Given the description of an element on the screen output the (x, y) to click on. 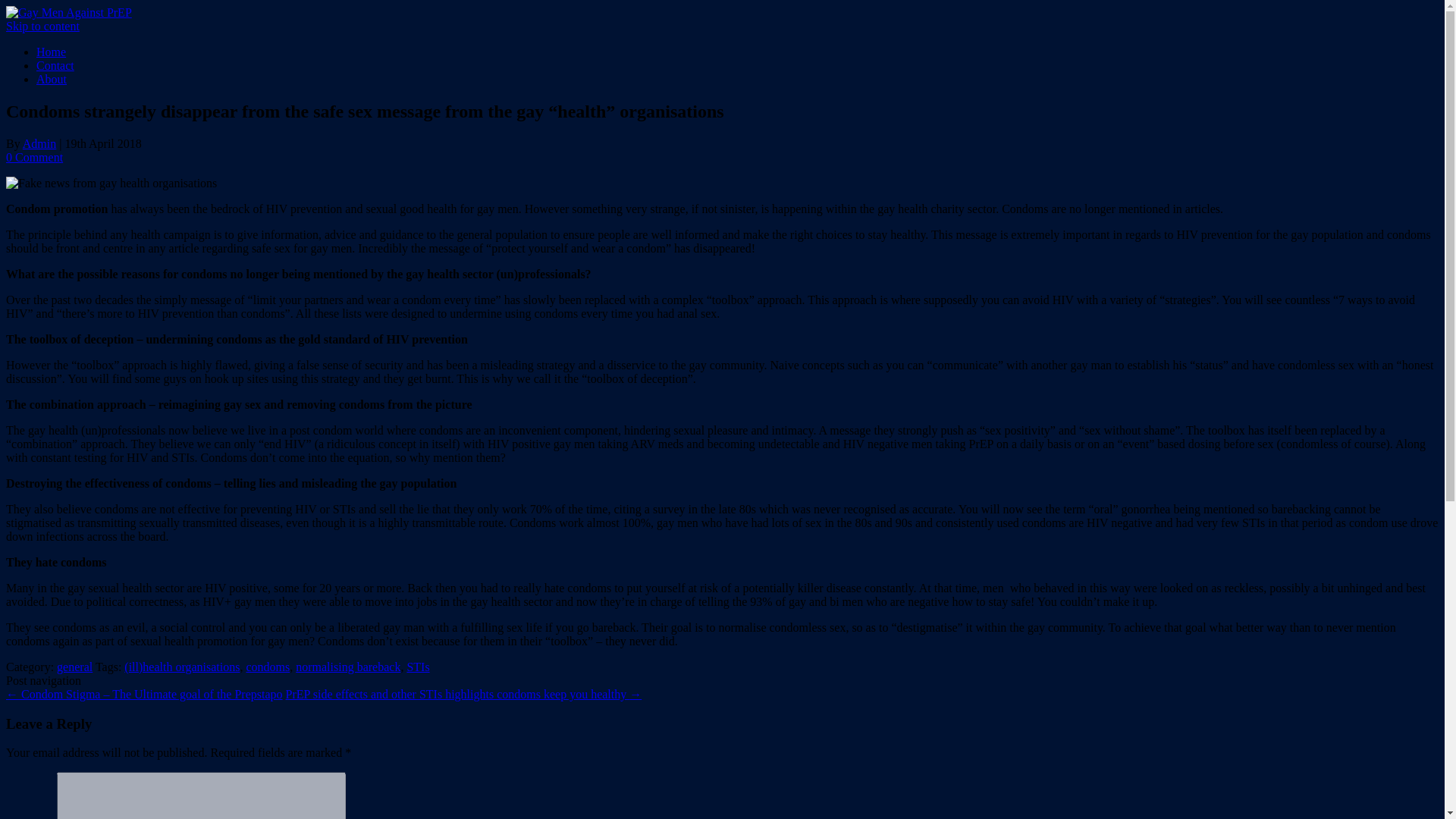
Posts by Admin (39, 143)
Gay Men Against PrEP (68, 11)
Admin (39, 143)
About (51, 78)
Contact (55, 65)
Skip to content (42, 25)
normalising bareback (347, 666)
Skip to content (42, 25)
Home (50, 51)
general (74, 666)
STIs (417, 666)
0 Comment (33, 156)
condoms (267, 666)
